Given the description of an element on the screen output the (x, y) to click on. 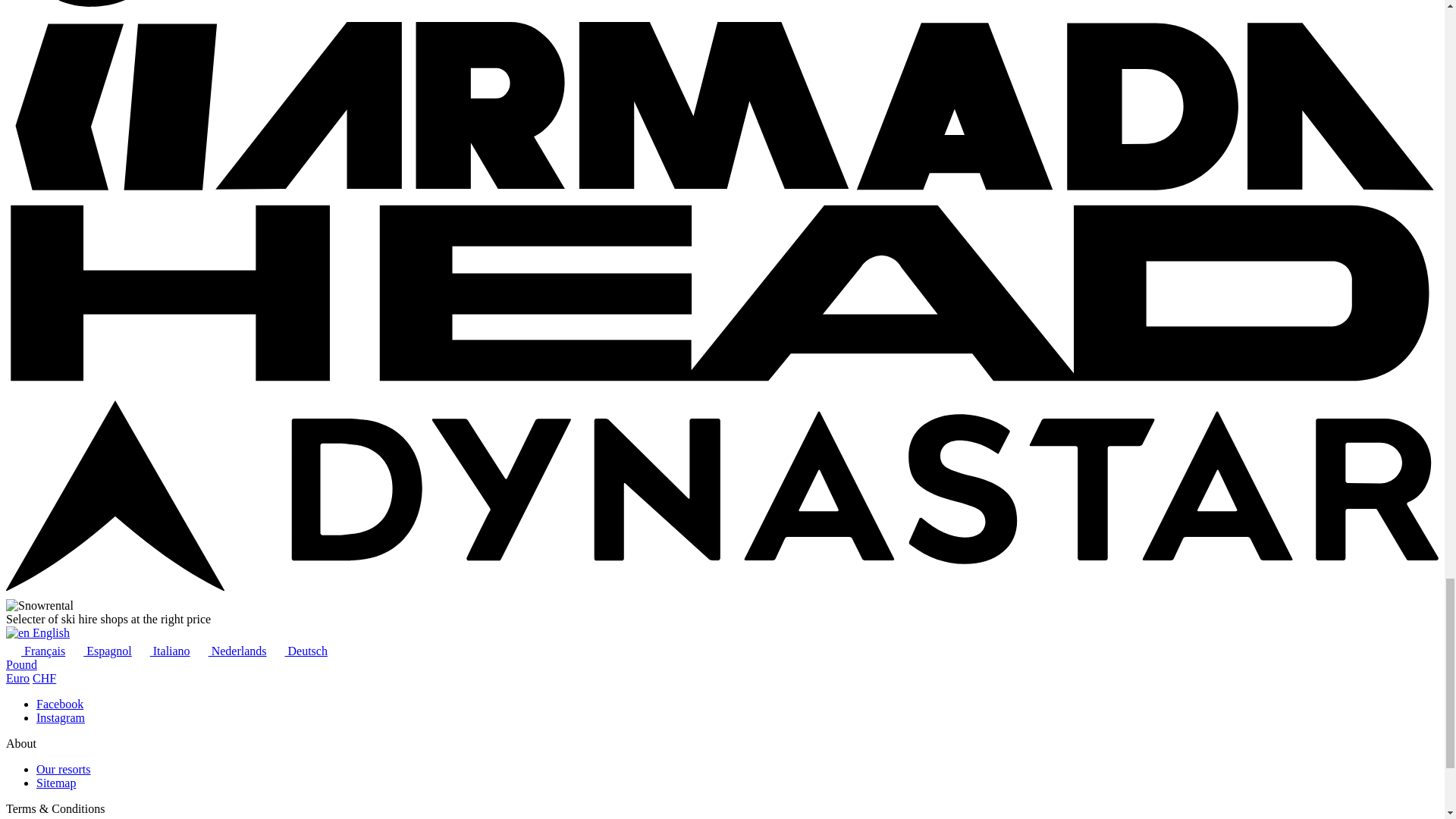
Italiano (162, 650)
Nederlands (229, 650)
Espagnol (100, 650)
English (37, 632)
